Given the description of an element on the screen output the (x, y) to click on. 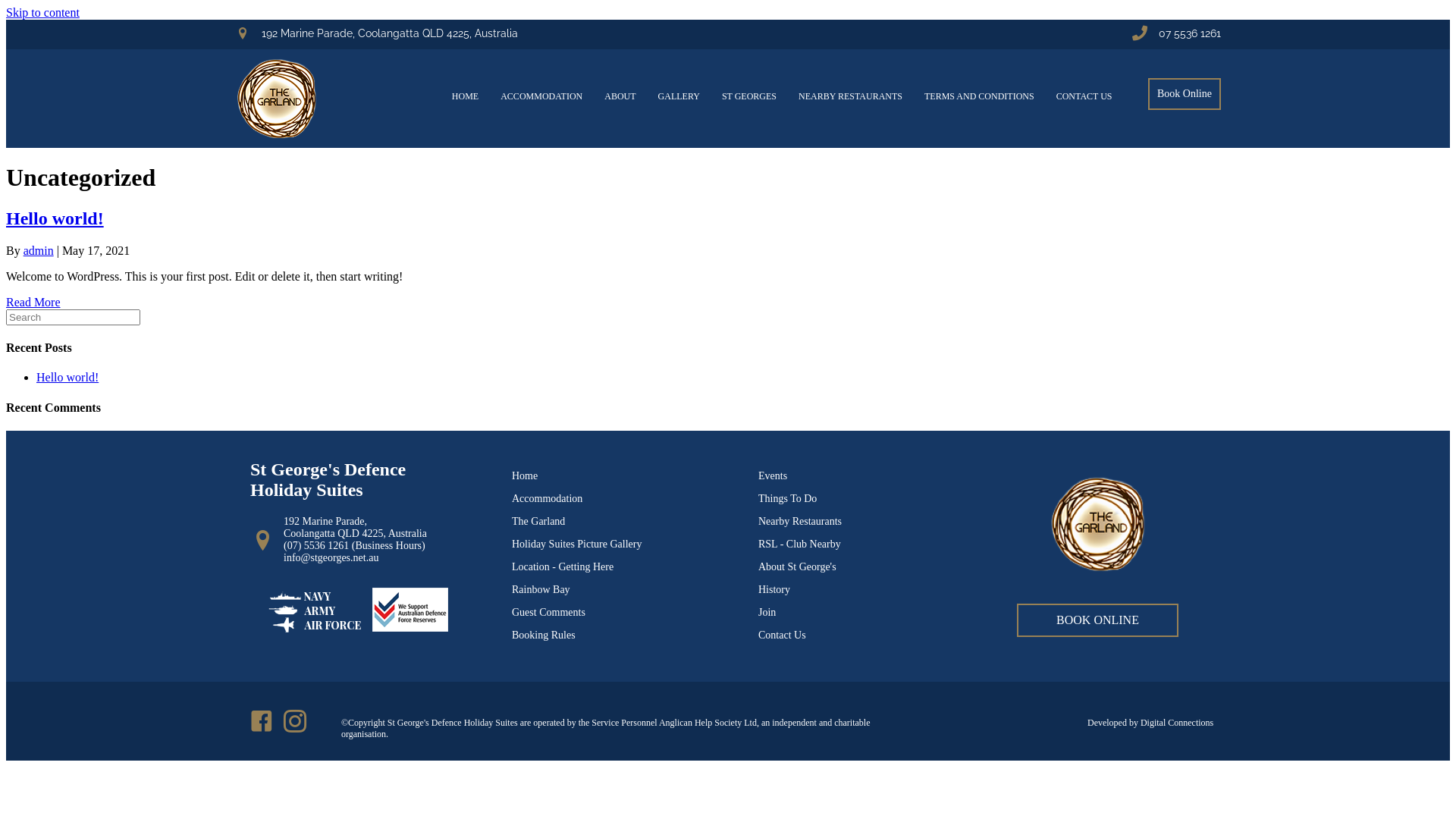
Contact Us Element type: text (782, 634)
Read More Element type: text (33, 301)
admin Element type: text (38, 250)
ABOUT Element type: text (619, 96)
HOME Element type: text (465, 96)
Hello world! Element type: text (67, 376)
ACCOMMODATION Element type: text (541, 96)
info@stgeorges.net.au Element type: text (330, 557)
ST GEORGES Element type: text (749, 96)
Book Online Element type: text (1184, 93)
BOOK ONLINE Element type: text (1097, 620)
Skip to content Element type: text (42, 12)
CONTACT US Element type: text (1084, 96)
Digital Connections Element type: text (1176, 722)
Events Element type: text (772, 475)
Things To Do Element type: text (787, 498)
St George's Defence Holiday Suites Element type: text (327, 479)
About St George's Element type: text (797, 566)
Guest Comments Element type: text (548, 612)
Nearby Restaurants Element type: text (799, 521)
logo-support-australian-defence-force-reserves Element type: hover (358, 609)
RSL - Club Nearby Element type: text (799, 543)
NEARBY RESTAURANTS Element type: text (850, 96)
GALLERY Element type: text (678, 96)
Join Element type: text (766, 612)
Rainbow Bay Element type: text (540, 589)
07 5536 1261 Element type: text (1189, 33)
cropped-the-garland-logo.png Element type: hover (1097, 523)
Booking Rules Element type: text (543, 634)
TERMS AND CONDITIONS Element type: text (978, 96)
(07) 5536 1261 Element type: text (315, 545)
the-garland-logo Element type: hover (276, 98)
The Garland Element type: text (537, 521)
192 Marine Parade,
Coolangatta QLD 4225, Australia Element type: text (374, 527)
History Element type: text (774, 589)
192 Marine Parade, Coolangatta QLD 4225, Australia Element type: text (389, 33)
Hello world! Element type: text (54, 218)
Location - Getting Here Element type: text (562, 566)
Type and press Enter to search. Element type: hover (727, 317)
Accommodation Element type: text (546, 498)
Holiday Suites Picture Gallery Element type: text (576, 543)
Home Element type: text (524, 475)
